Given the description of an element on the screen output the (x, y) to click on. 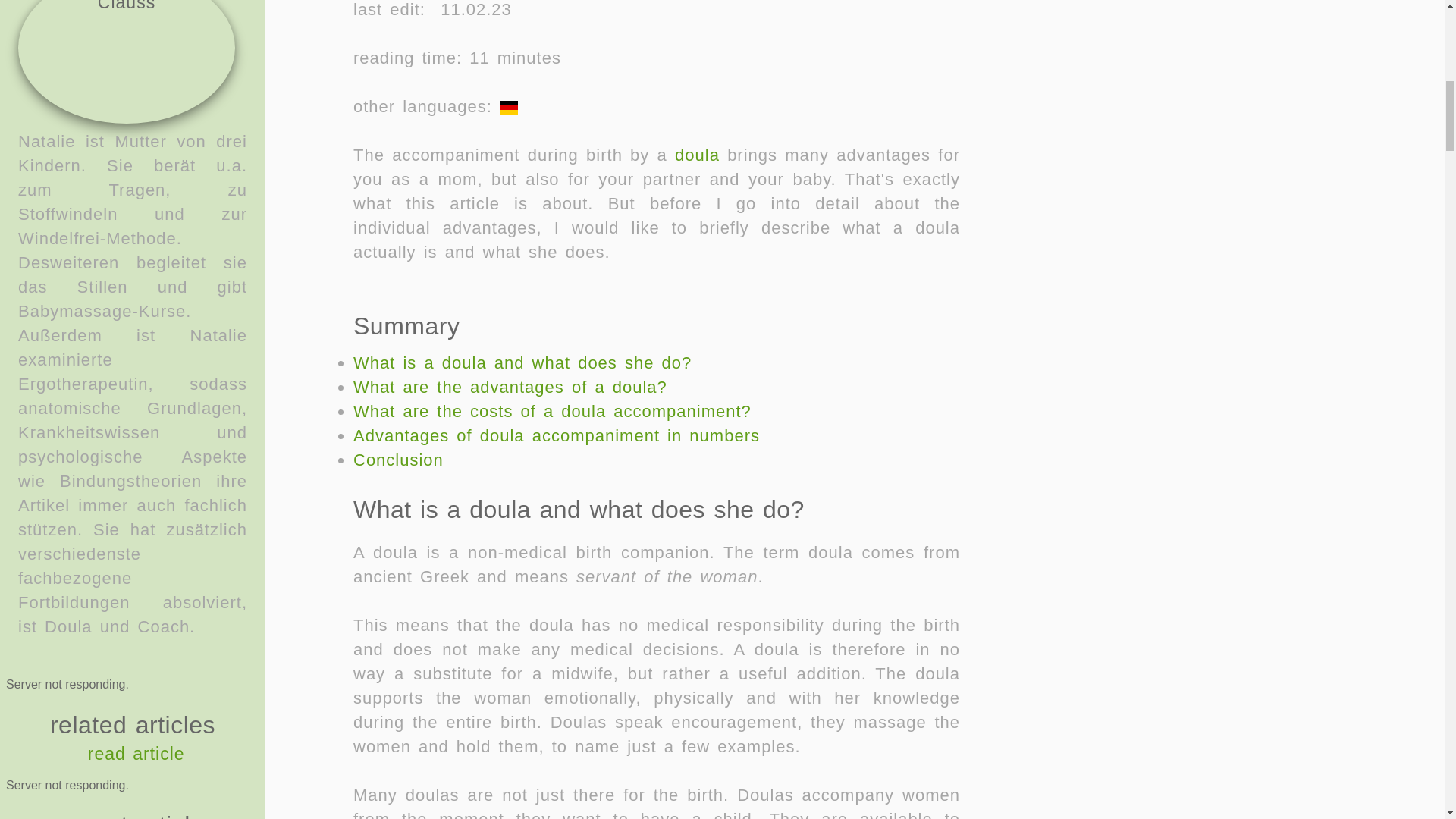
What are the advantages of a doula? (509, 386)
Natalie Clauss (125, 61)
What are the costs of a doula accompaniment? (552, 411)
Advantages of doula accompaniment in numbers (556, 435)
What is a doula and what does she do? (522, 362)
doula (697, 154)
Conclusion (398, 459)
